Given the description of an element on the screen output the (x, y) to click on. 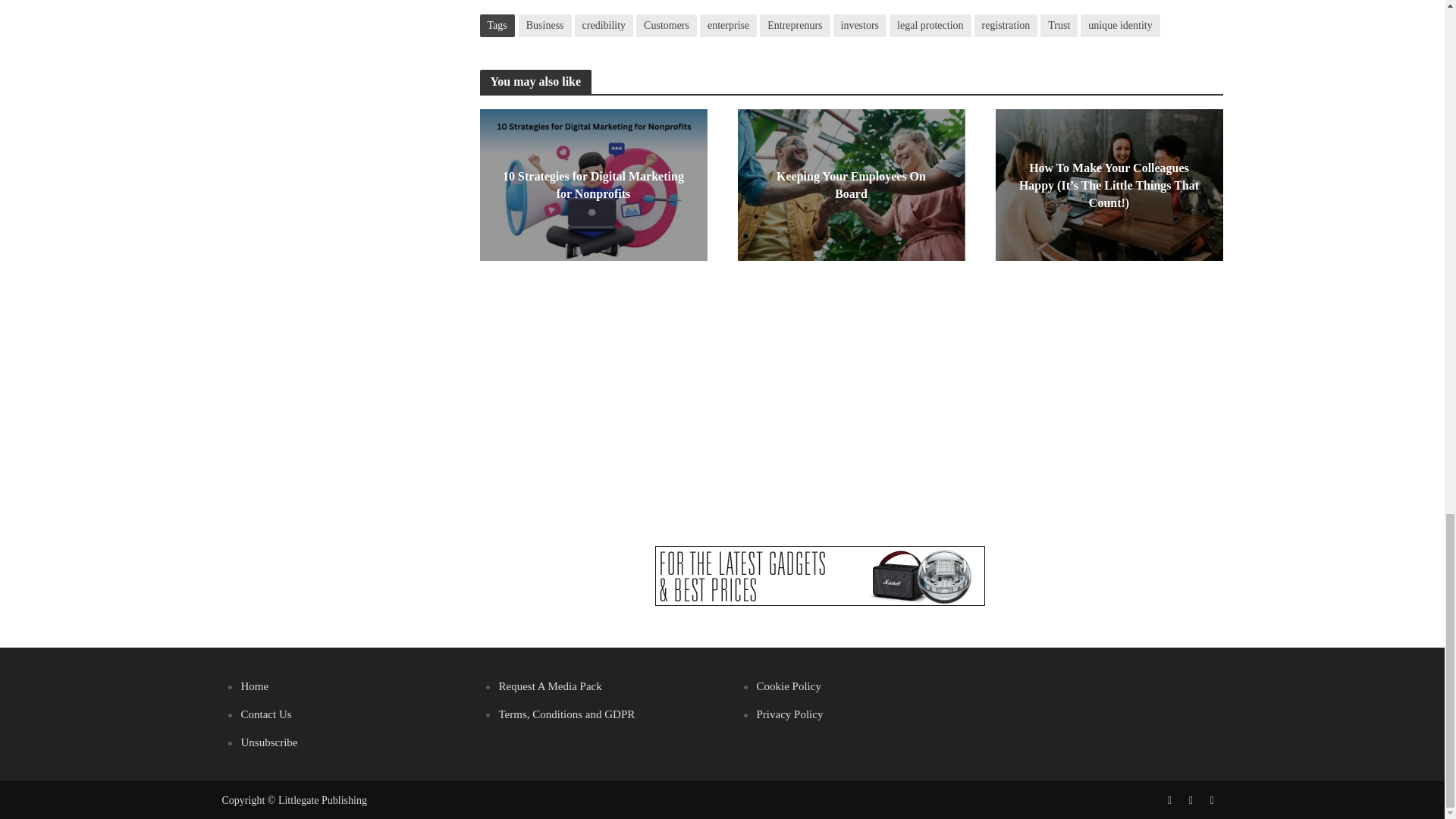
Keeping Your Employees On Board (849, 182)
10 Strategies for Digital Marketing for Nonprofits (592, 182)
